Given the description of an element on the screen output the (x, y) to click on. 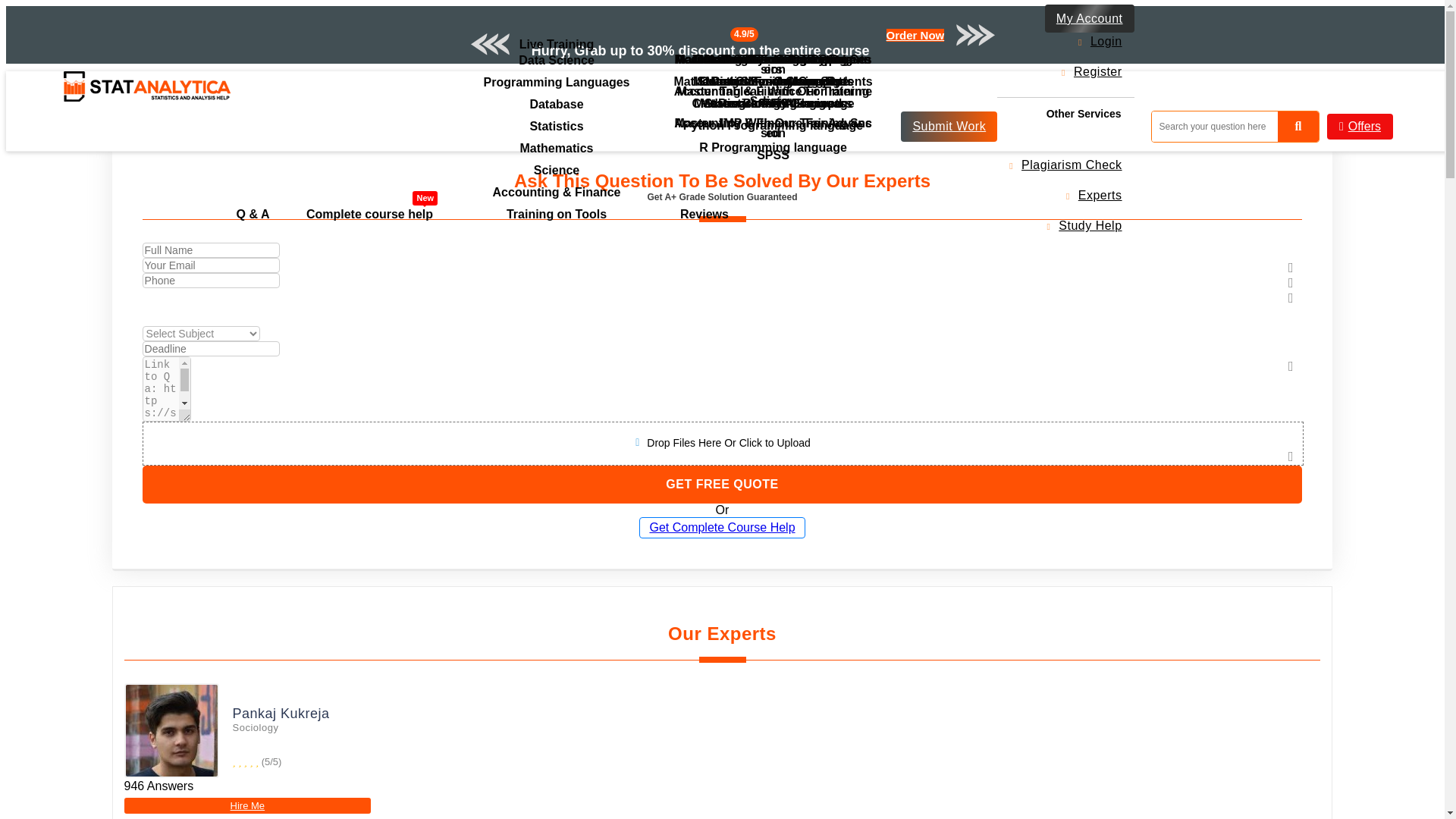
Data Science Using Python (773, 59)
Training on Tools (369, 214)
Live Training (556, 214)
Database (557, 43)
Order Now (556, 104)
Data Science Using R (915, 34)
Science (773, 81)
Programming Languages (556, 169)
Mathematics (556, 82)
